Given the description of an element on the screen output the (x, y) to click on. 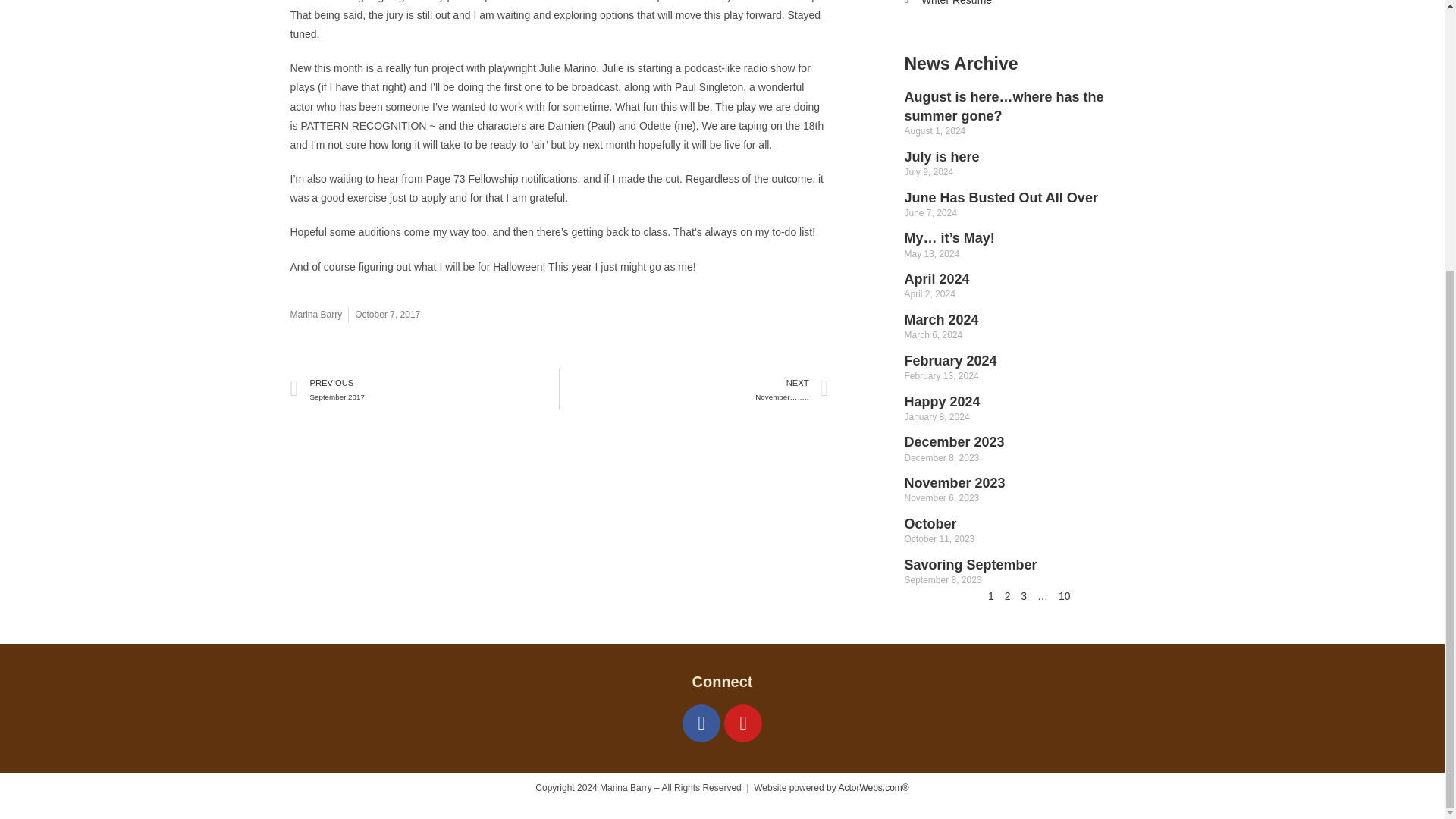
March 2024 (941, 319)
Savoring September  (424, 388)
10 (972, 564)
June Has Busted Out All Over (1064, 595)
December 2023 (1000, 197)
October (954, 441)
April 2024 (930, 523)
Writer Resume (936, 278)
November 2023 (1028, 4)
